Given the description of an element on the screen output the (x, y) to click on. 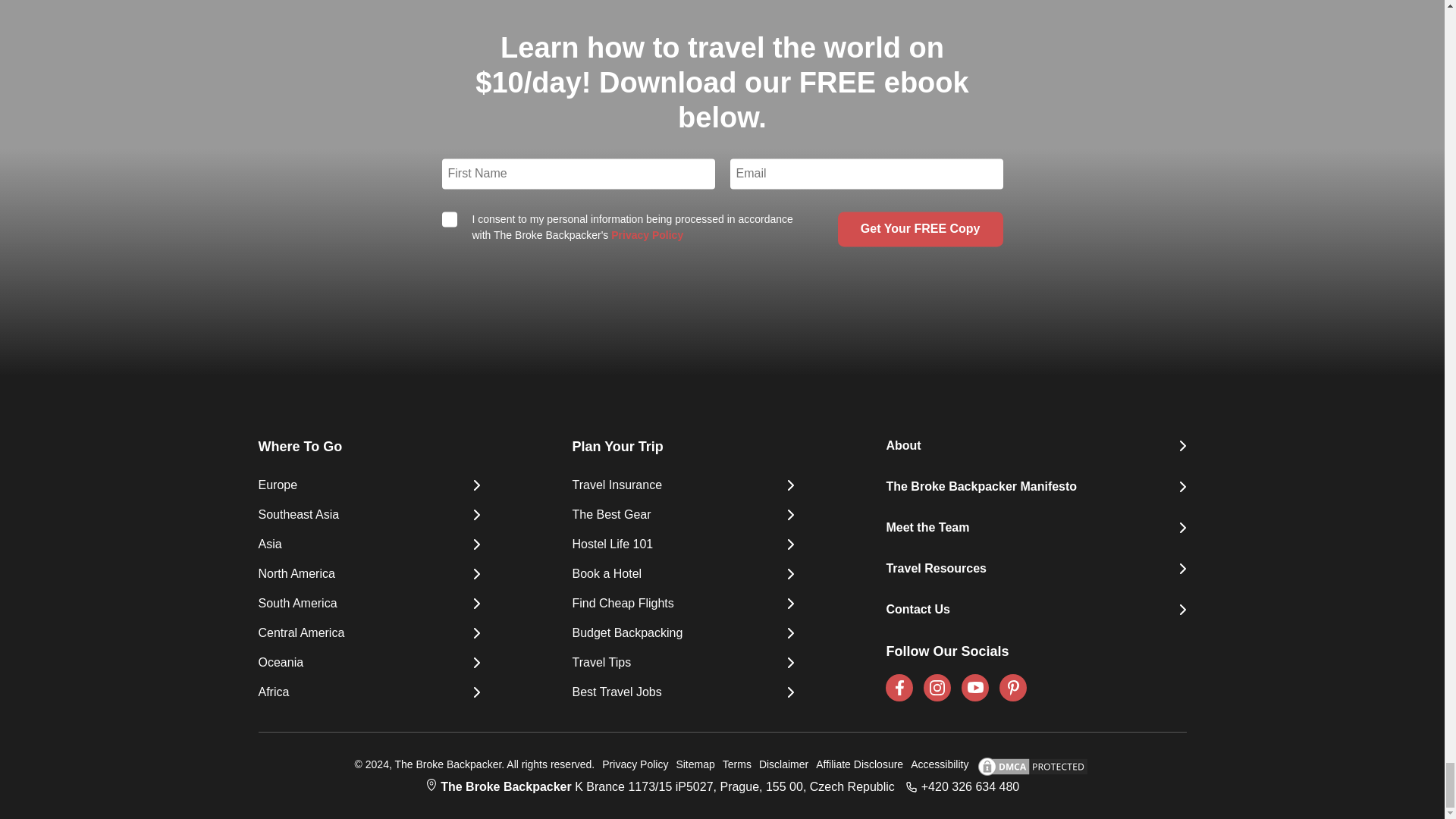
DMCA.com Protection Status (1028, 766)
1 (449, 218)
